Given the description of an element on the screen output the (x, y) to click on. 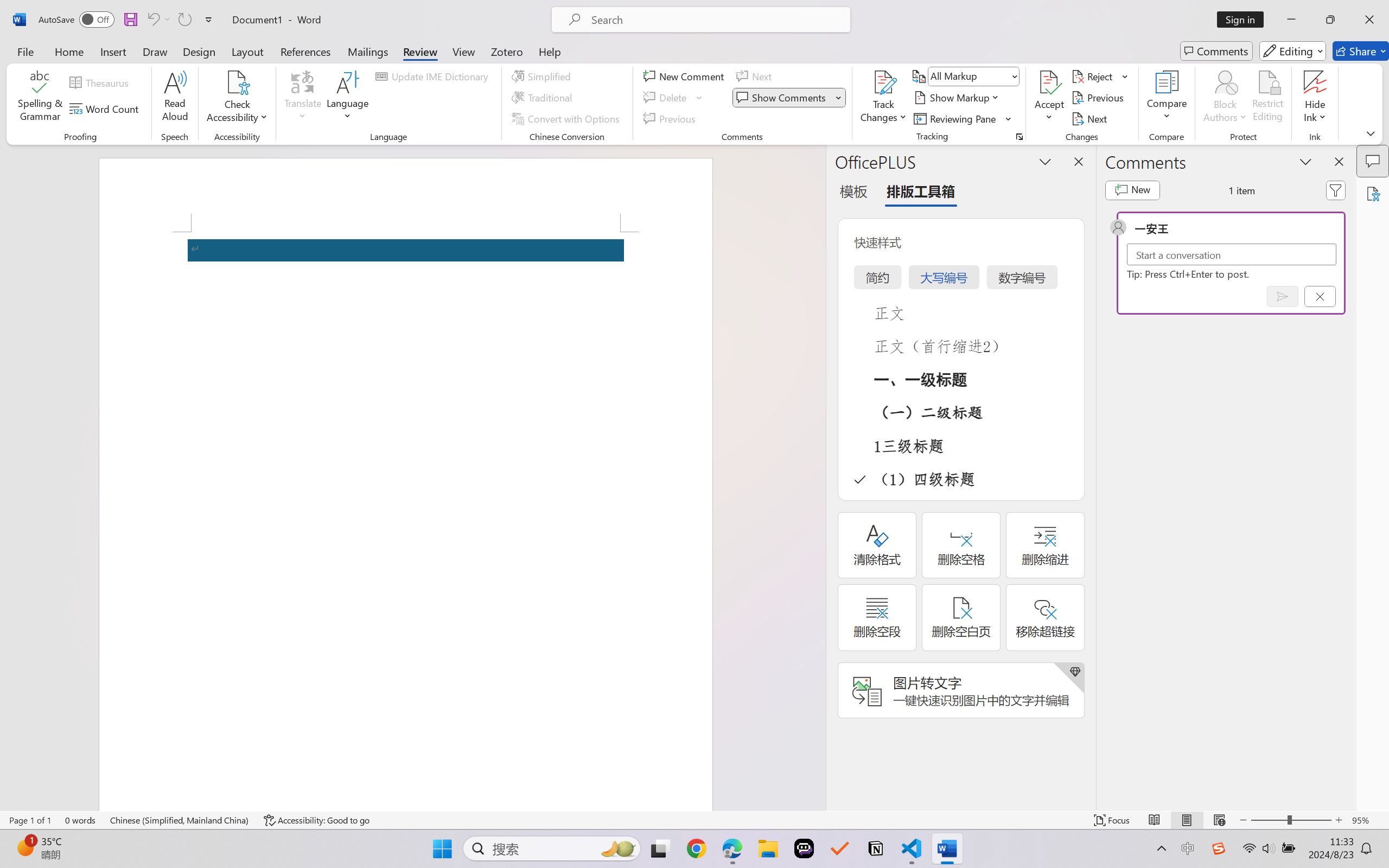
Track Changes (883, 97)
Accessibility Assistant (1373, 193)
Language (347, 97)
New Comment (685, 75)
Editing (1292, 50)
